Given the description of an element on the screen output the (x, y) to click on. 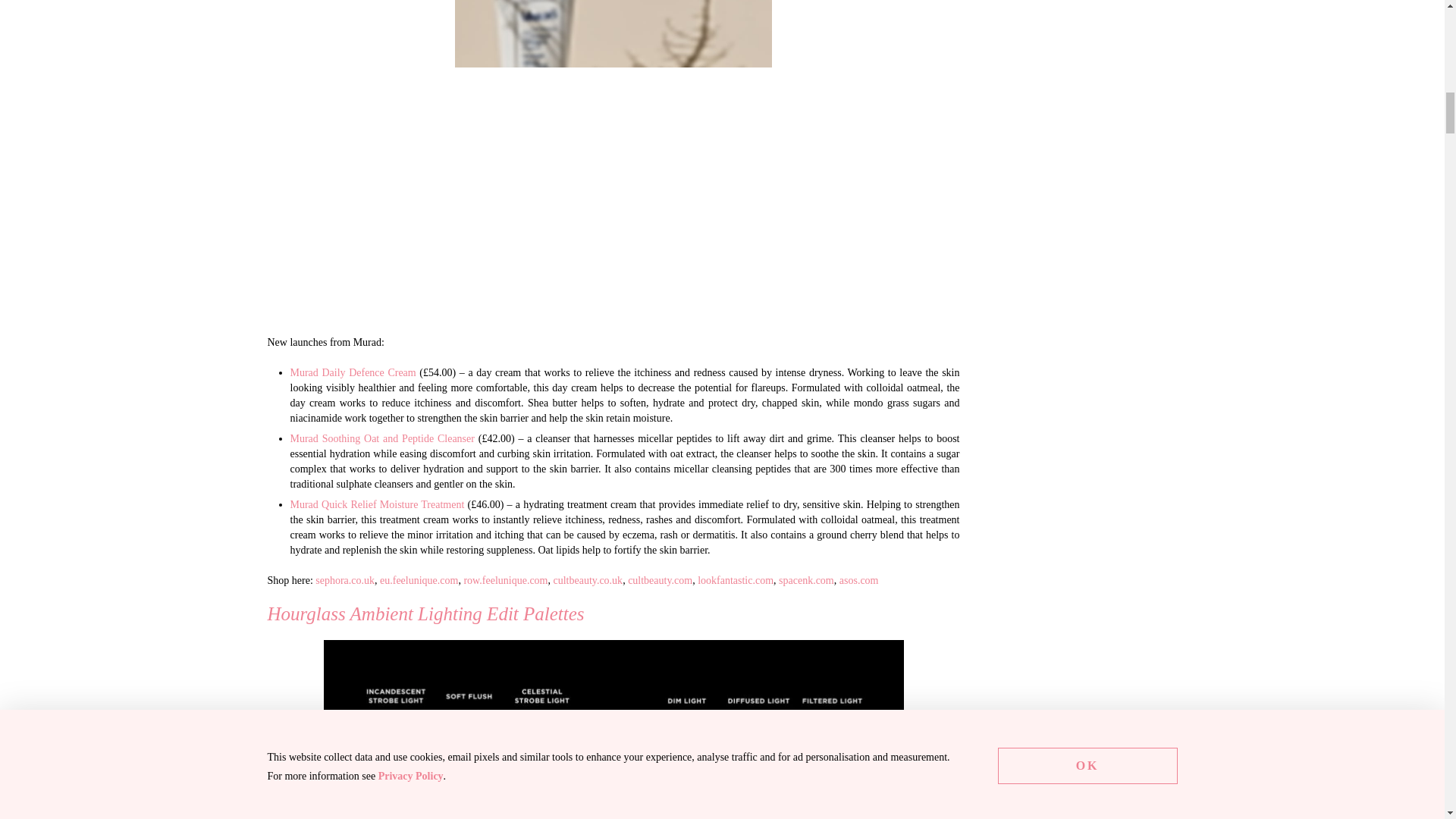
row.feelunique.com (505, 580)
asos.com (859, 580)
New launches from Murad (612, 160)
Murad Daily Defence Cream (351, 372)
lookfantastic.com (735, 580)
cultbeauty.co.uk (588, 580)
eu.feelunique.com (419, 580)
Murad Soothing Oat and Peptide Cleanser (381, 438)
Murad Quick Relief Moisture Treatment (376, 504)
sephora.co.uk (344, 580)
spacenk.com (806, 580)
cultbeauty.com (660, 580)
Hourglass Ambient Lighting Edit Palettes (612, 729)
